Given the description of an element on the screen output the (x, y) to click on. 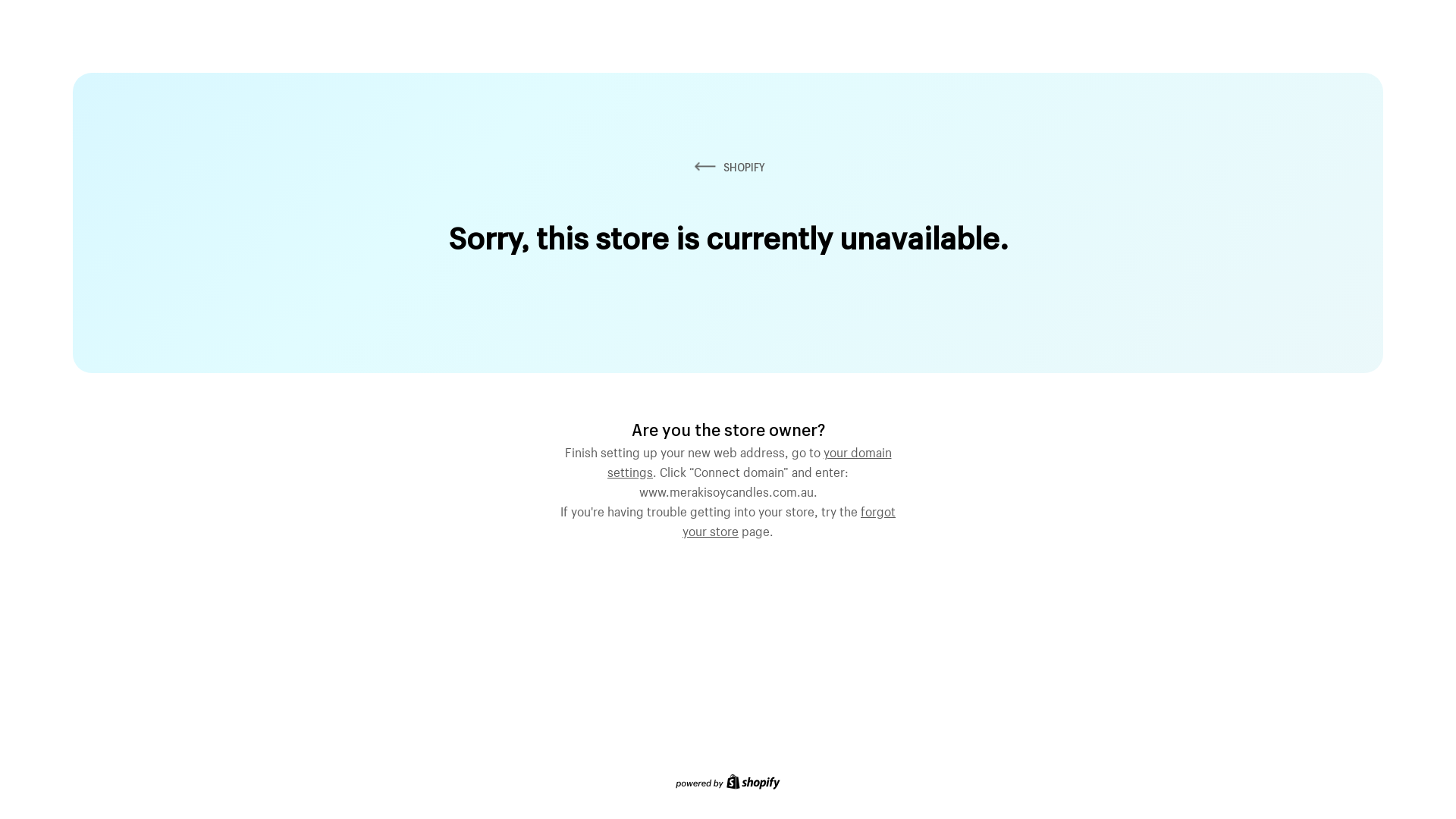
your domain settings Element type: text (749, 460)
forgot your store Element type: text (788, 519)
SHOPIFY Element type: text (727, 167)
